Given the description of an element on the screen output the (x, y) to click on. 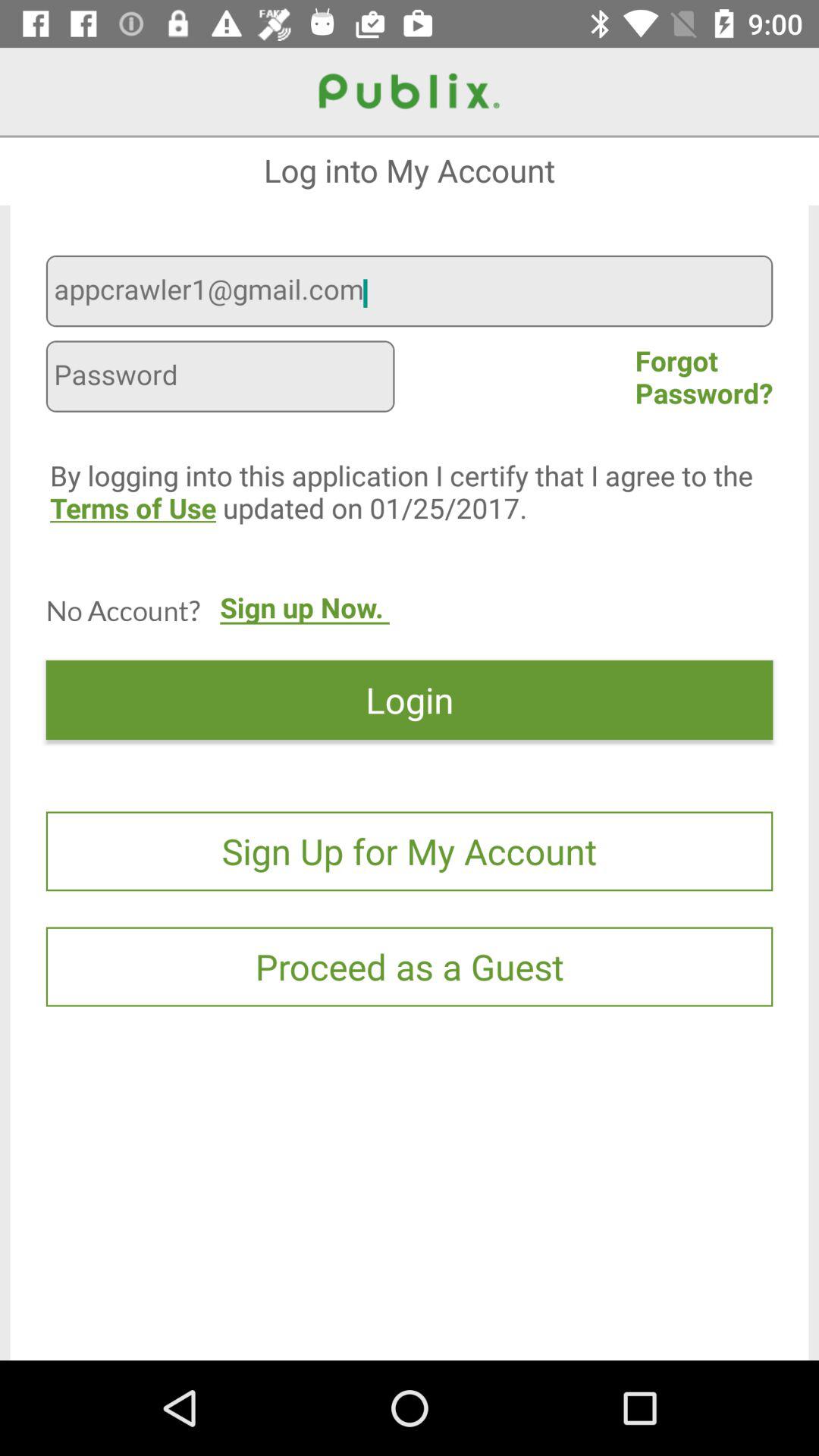
tap no account? icon (123, 609)
